Given the description of an element on the screen output the (x, y) to click on. 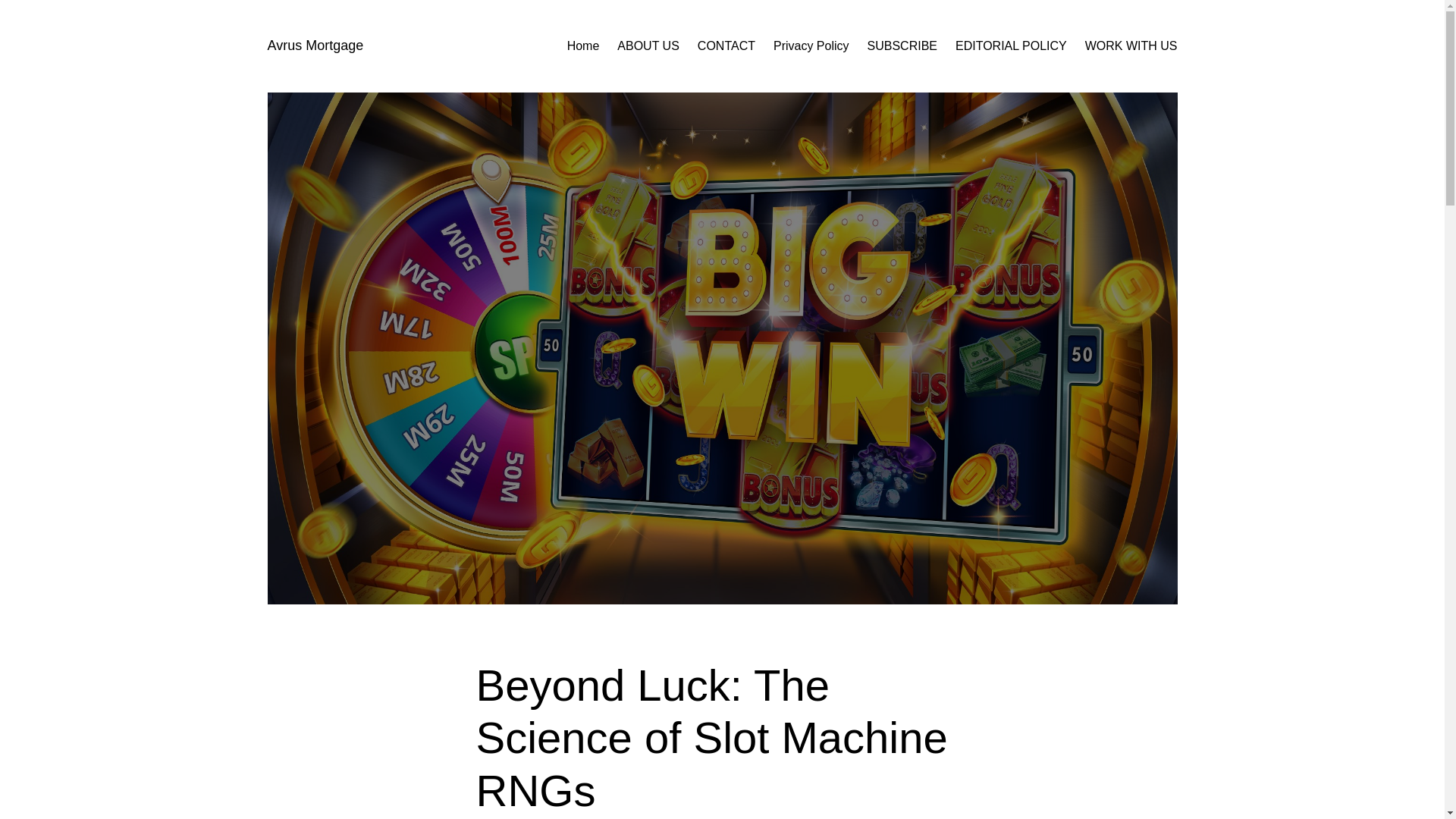
ABOUT US (648, 46)
CONTACT (726, 46)
WORK WITH US (1130, 46)
Privacy Policy (810, 46)
SUBSCRIBE (902, 46)
Home (583, 46)
EDITORIAL POLICY (1011, 46)
Avrus Mortgage (314, 45)
